Given the description of an element on the screen output the (x, y) to click on. 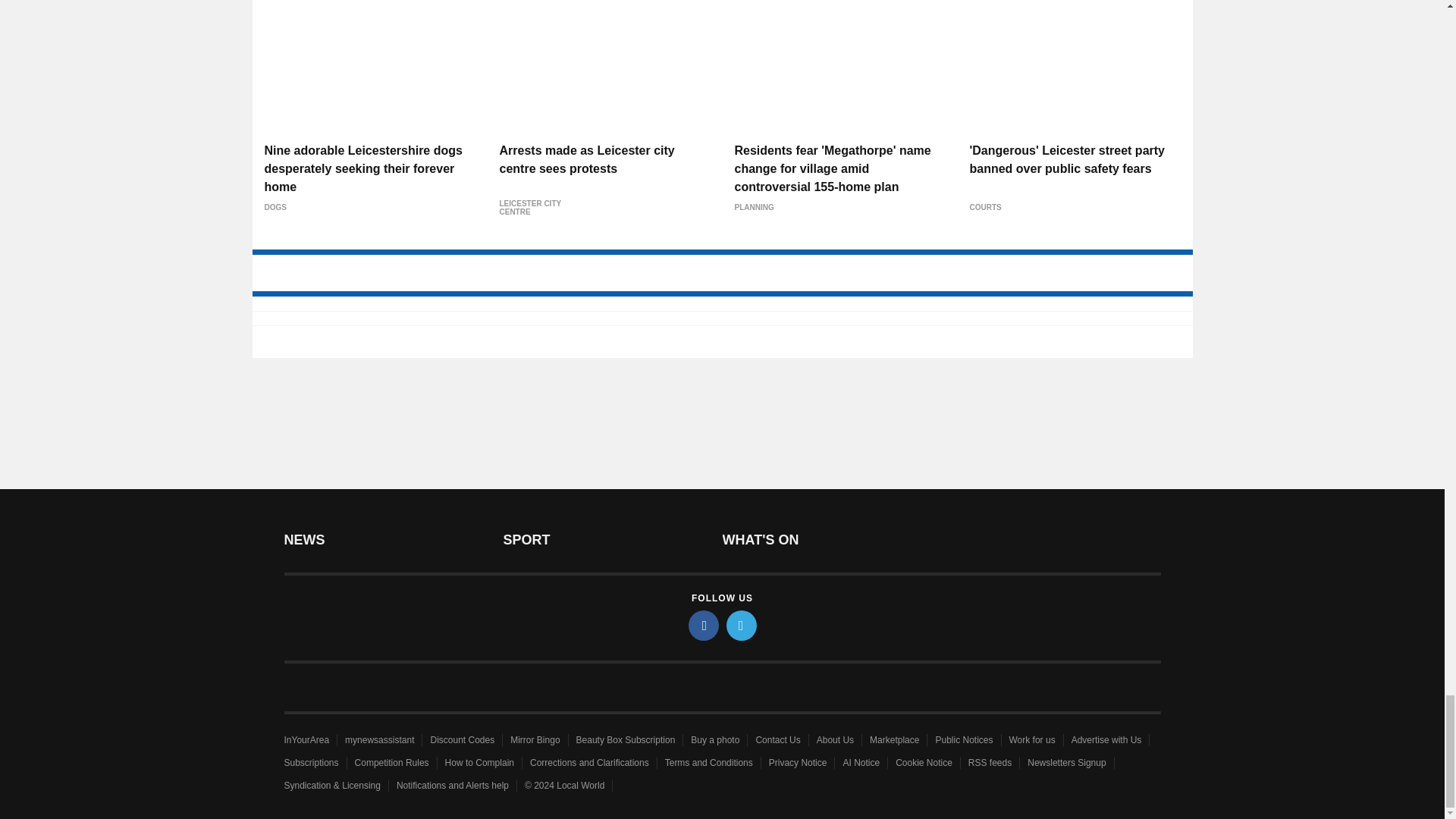
twitter (741, 625)
facebook (703, 625)
